Given the description of an element on the screen output the (x, y) to click on. 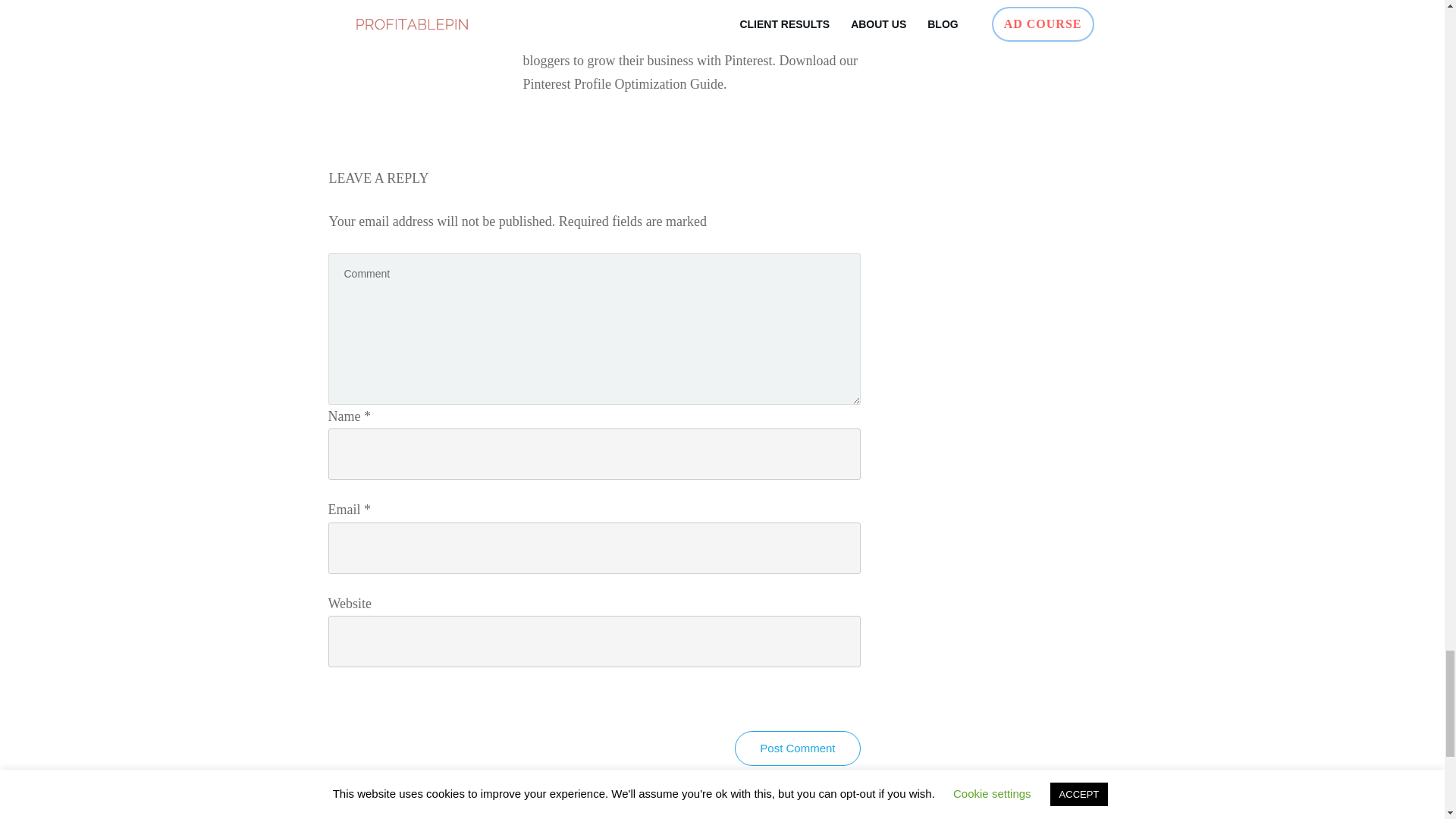
Post Comment (797, 748)
